Given the description of an element on the screen output the (x, y) to click on. 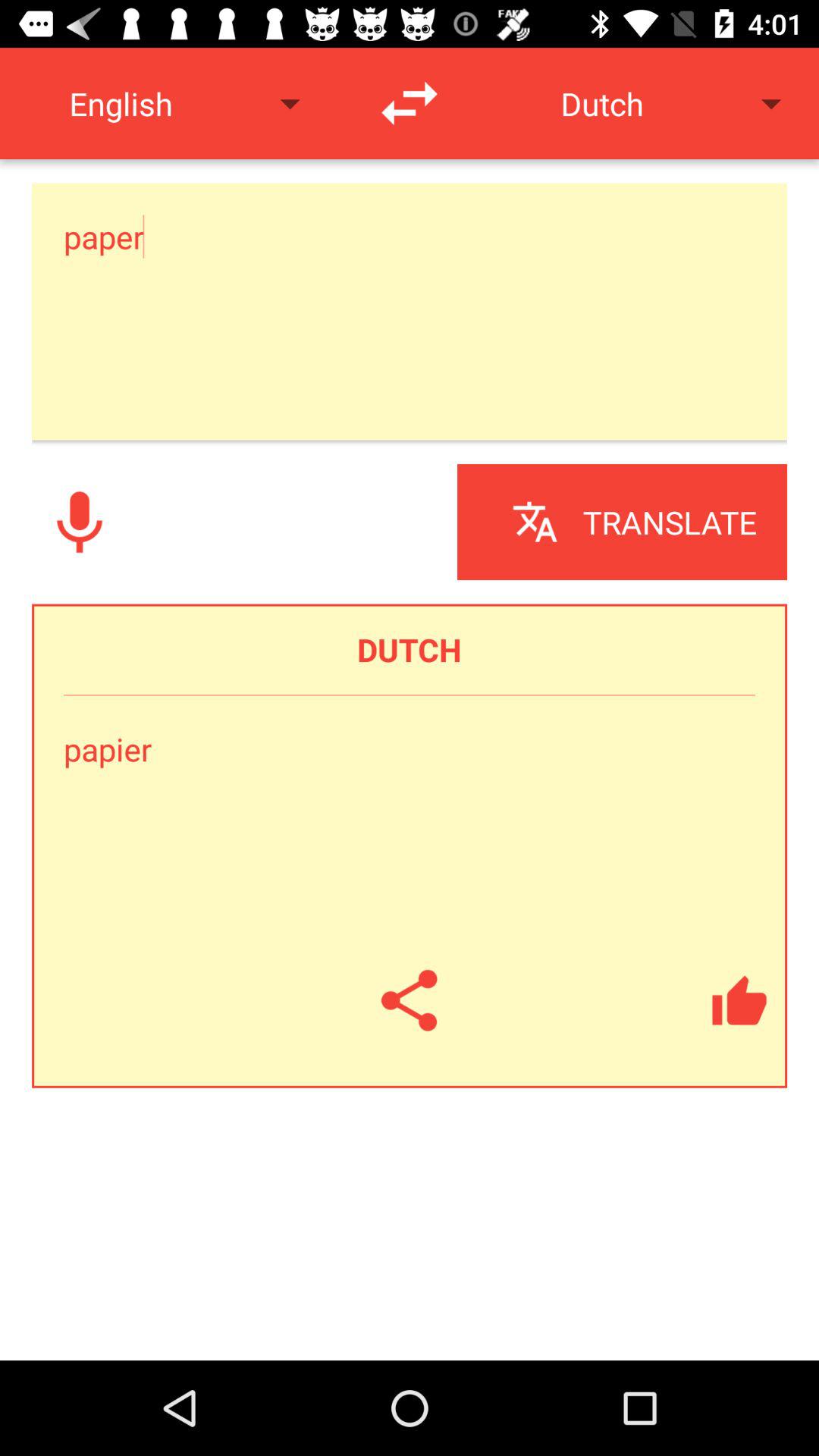
use microphone (79, 521)
